Given the description of an element on the screen output the (x, y) to click on. 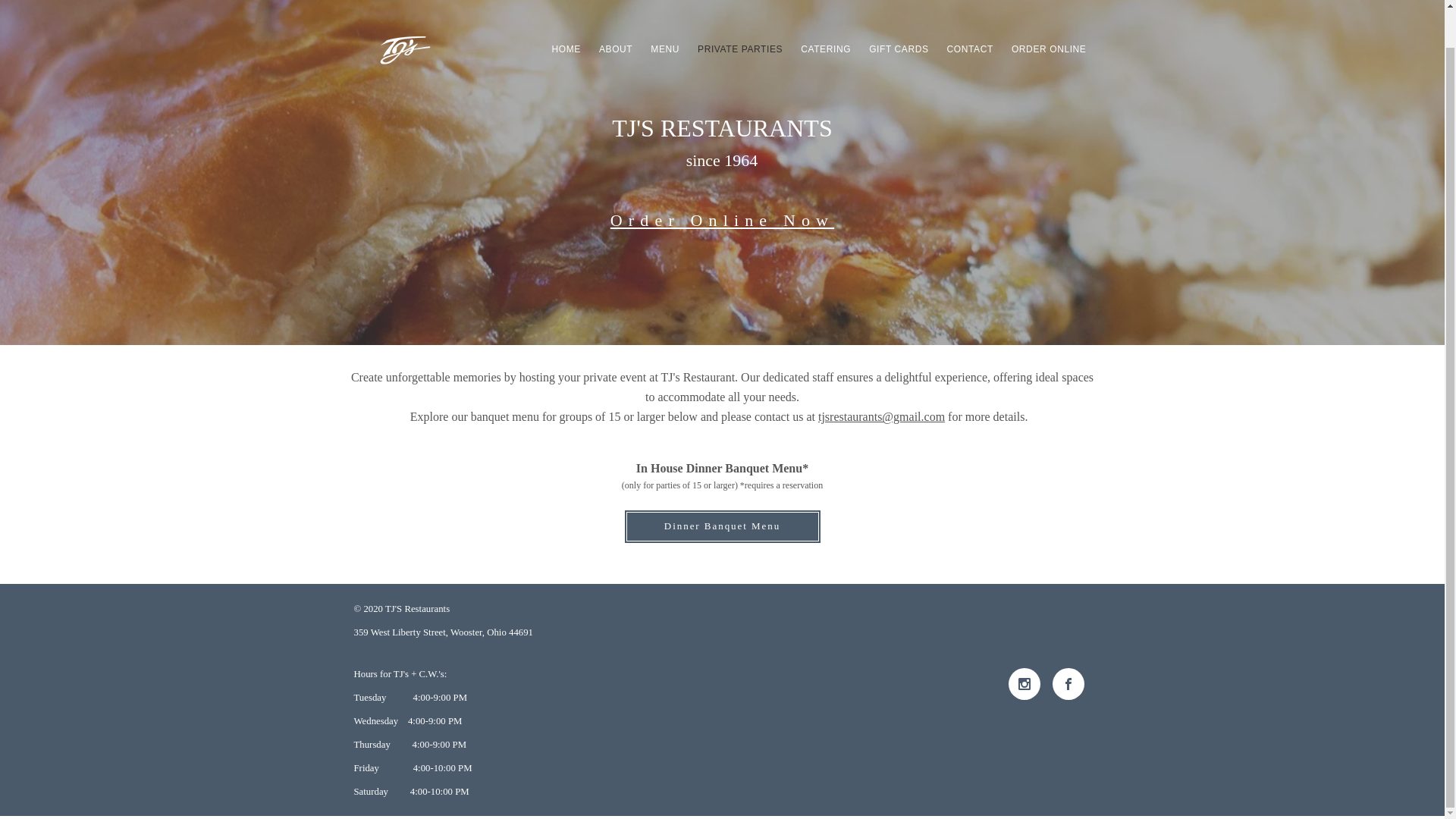
Order Online Now (722, 220)
Click Here To View The Menu (716, 262)
PRIVATE PARTIES (740, 49)
ORDER ONLINE (1049, 49)
MENU (665, 49)
GIFT CARDS (898, 49)
CONTACT (970, 49)
HOME (566, 49)
CATERING (826, 49)
ABOUT (615, 49)
Dinner Banquet Menu (722, 526)
